Given the description of an element on the screen output the (x, y) to click on. 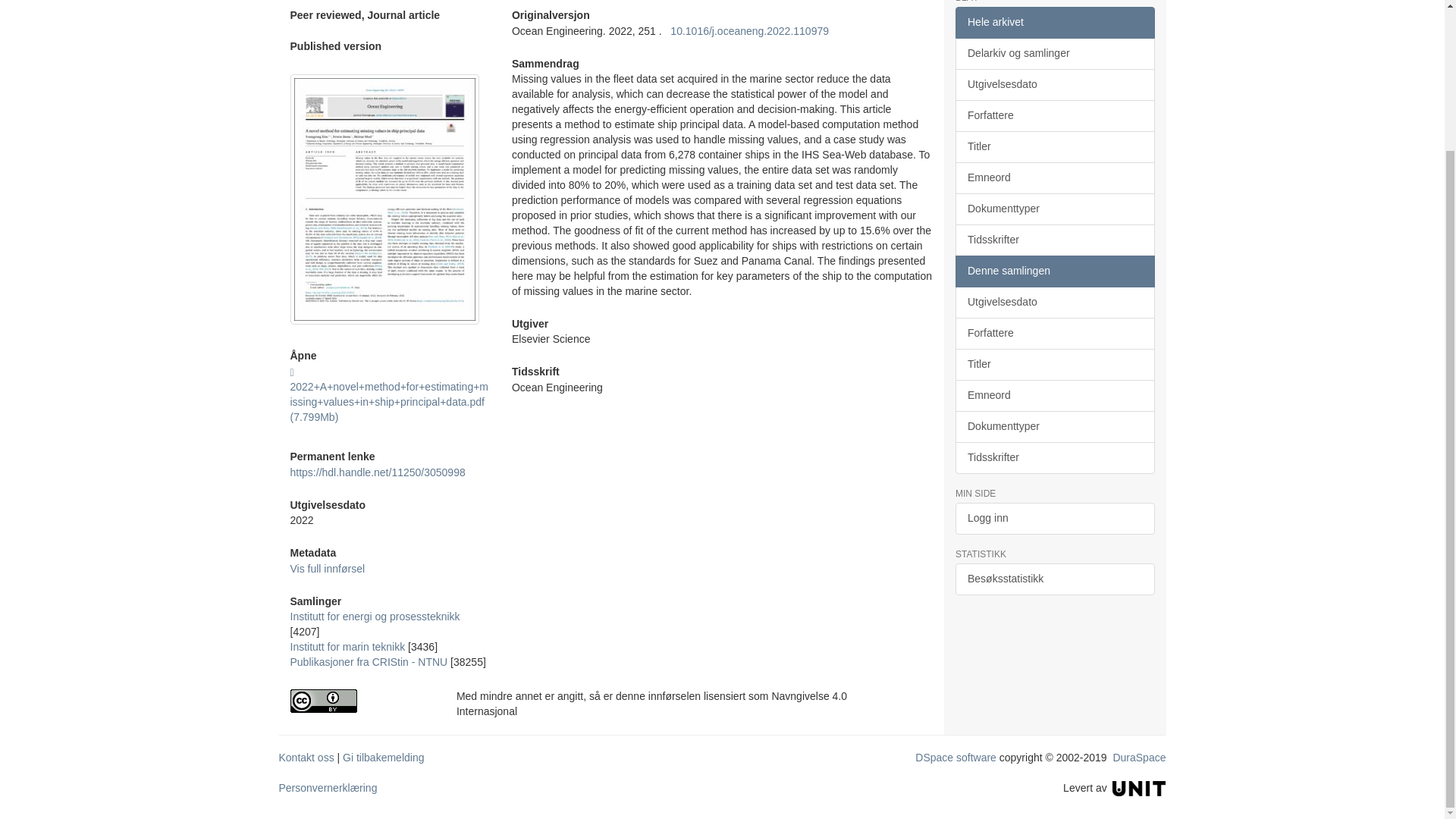
Navngivelse 4.0 Internasjonal (360, 700)
Hele arkivet (1054, 22)
Unit (1139, 787)
Delarkiv og samlinger (1054, 53)
Institutt for energi og prosessteknikk (374, 616)
Institutt for marin teknikk (346, 646)
Publikasjoner fra CRIStin - NTNU (367, 662)
